Given the description of an element on the screen output the (x, y) to click on. 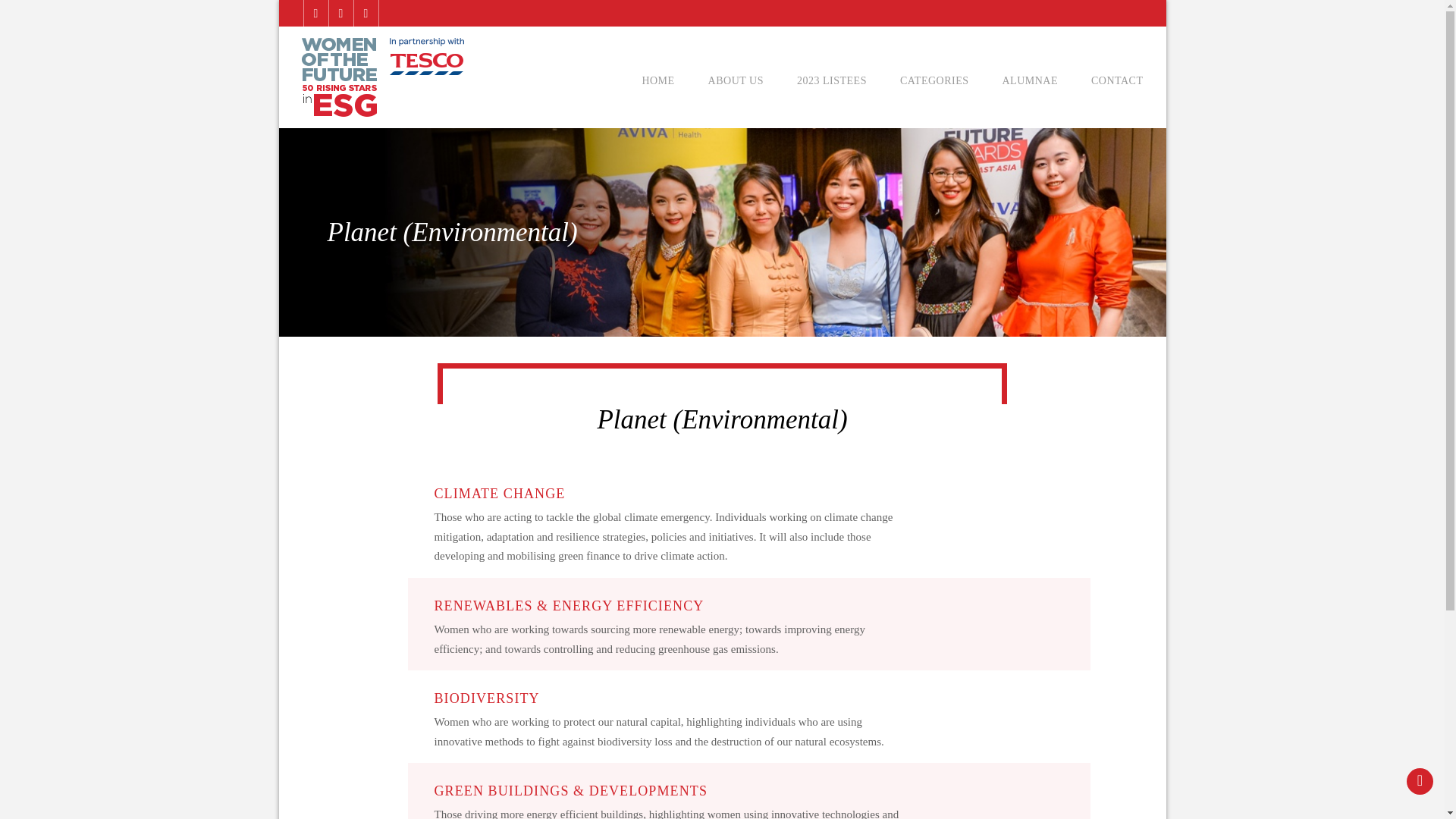
ABOUT US (734, 80)
BIODIVERSITY (485, 698)
CATEGORIES (934, 80)
ALUMNAE (1030, 80)
HOME (658, 80)
Women of the Future ESG (829, 80)
CLIMATE CHANGE (382, 77)
2023 LISTEES (498, 493)
CONTACT (831, 80)
